Given the description of an element on the screen output the (x, y) to click on. 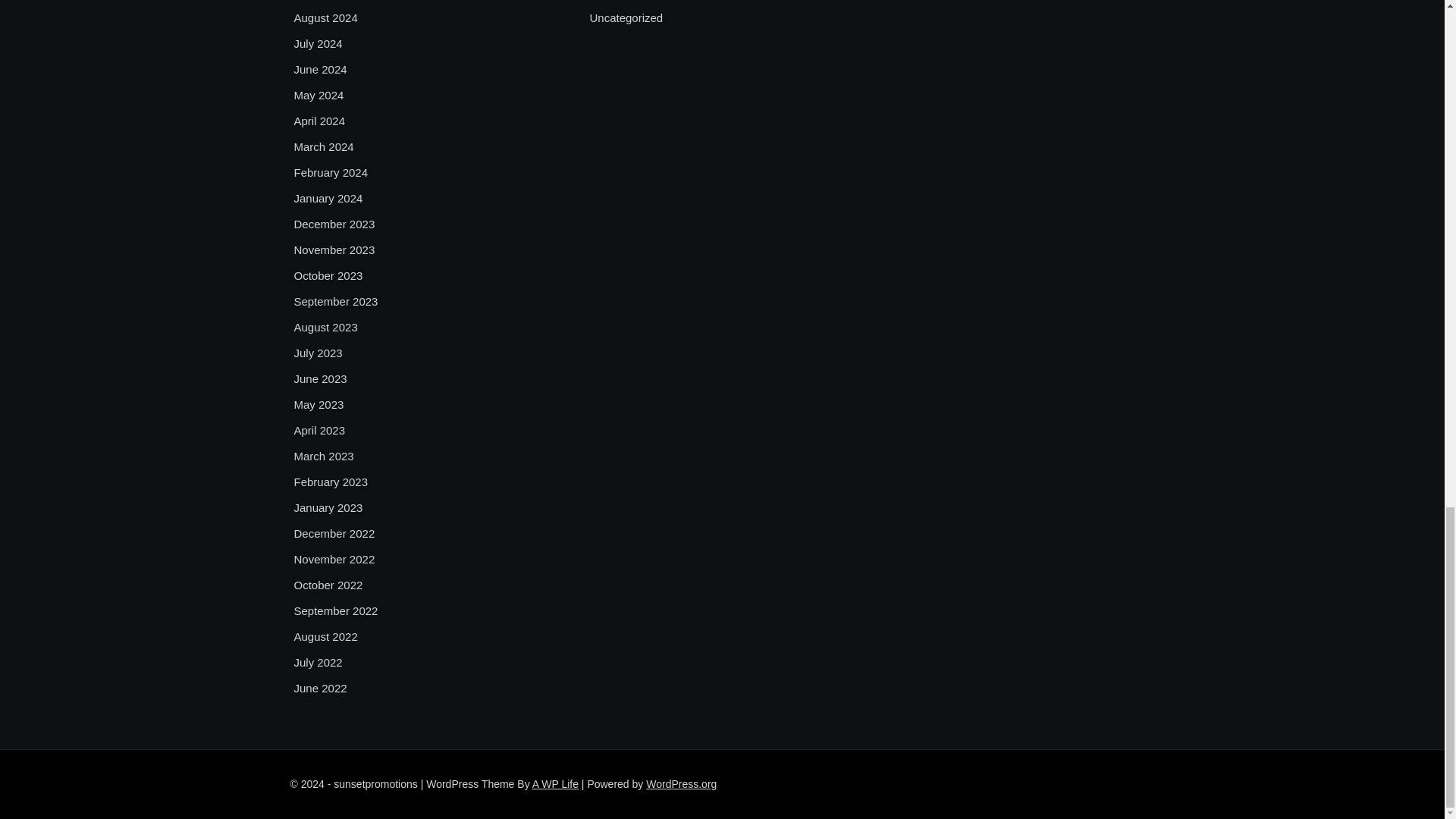
February 2024 (331, 172)
August 2024 (326, 18)
May 2023 (318, 404)
May 2024 (318, 95)
November 2023 (334, 249)
April 2023 (320, 430)
October 2023 (328, 275)
September 2023 (336, 301)
January 2024 (328, 198)
December 2023 (334, 224)
